Given the description of an element on the screen output the (x, y) to click on. 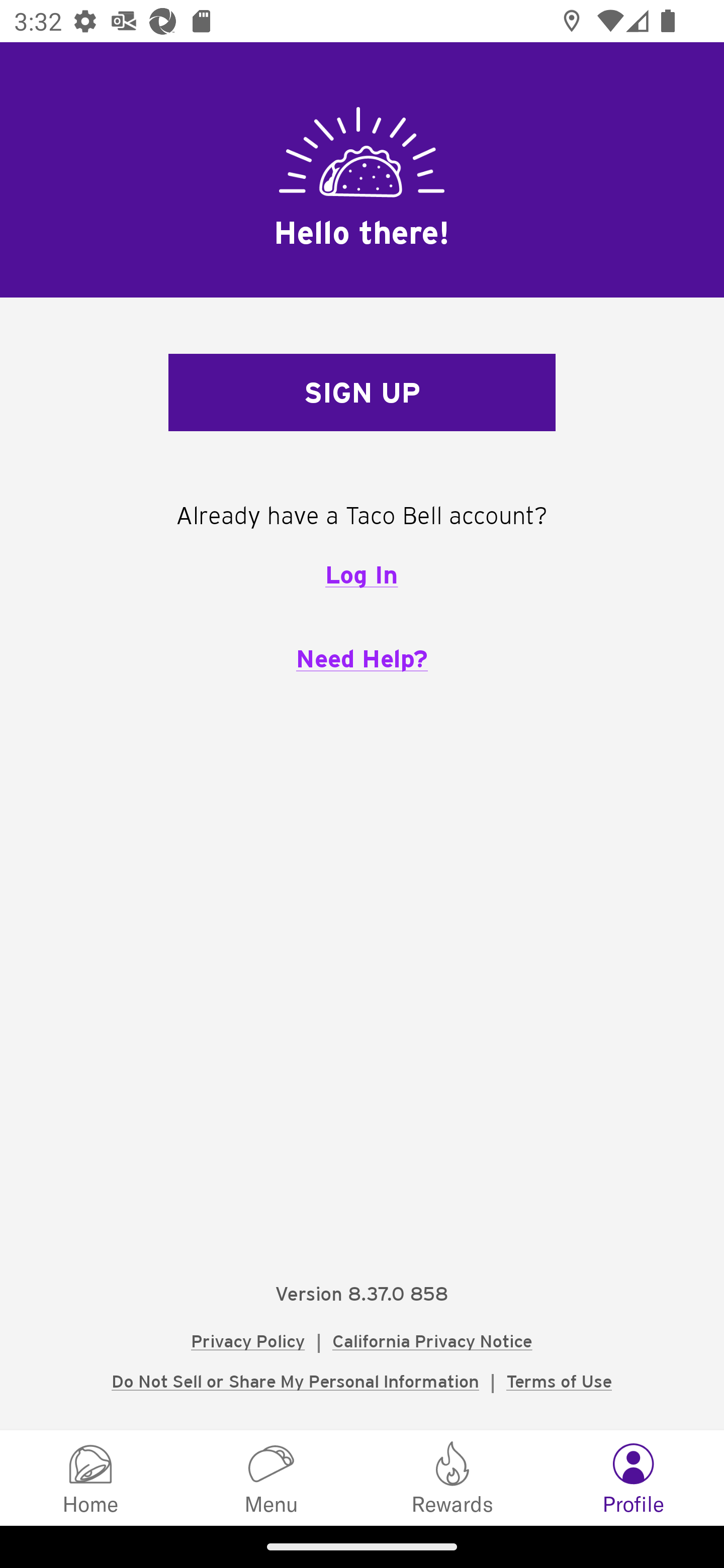
SIGN UP (361, 392)
Log In (361, 574)
Need Help? (361, 658)
Privacy Policy (248, 1341)
California Privacy Notice (432, 1341)
Do Not Sell or Share My Personal Information (295, 1381)
Terms of Use (558, 1381)
Home (90, 1476)
Menu (271, 1476)
Rewards (452, 1476)
My Info Profile (633, 1476)
